Given the description of an element on the screen output the (x, y) to click on. 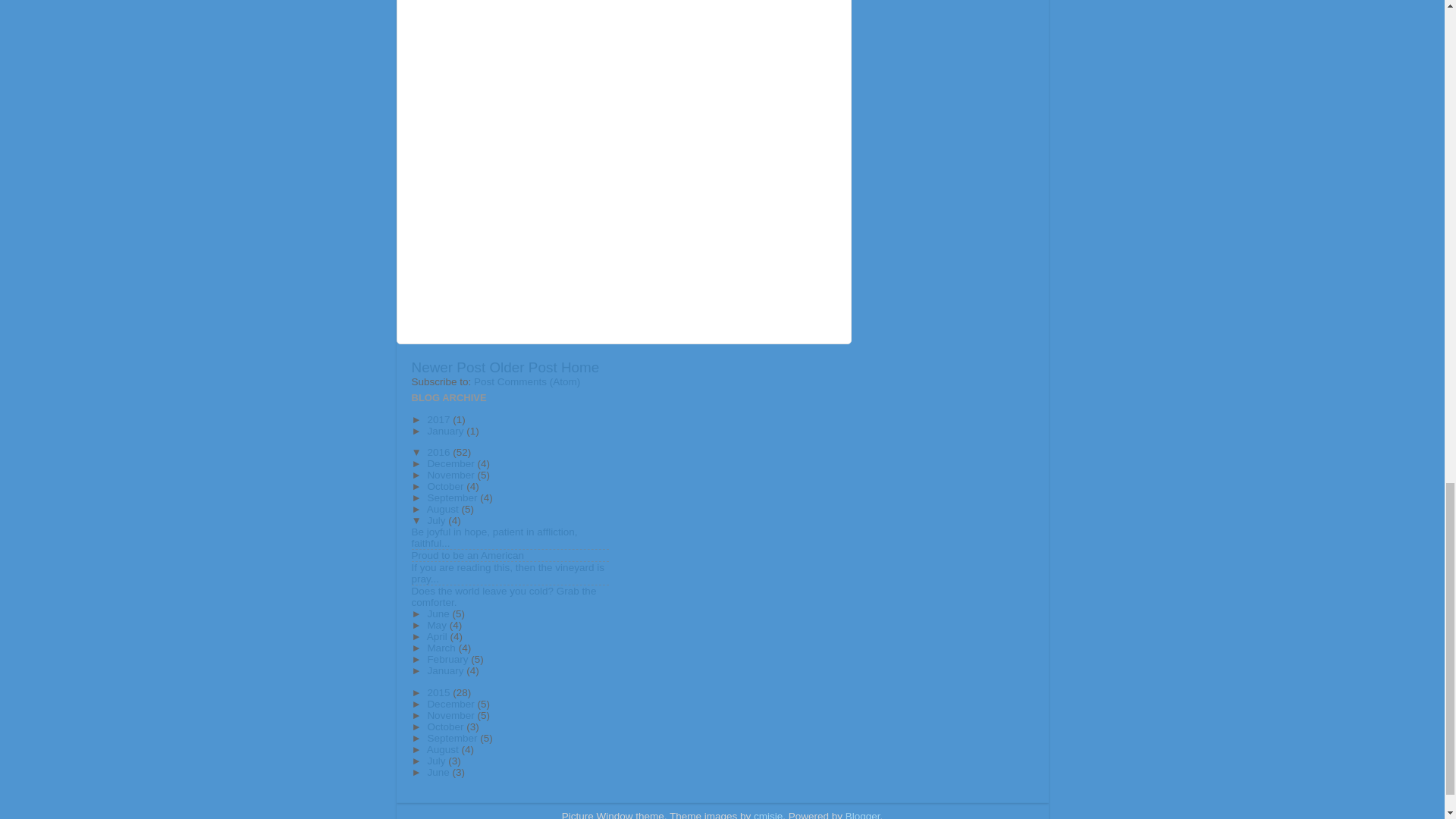
2017 (439, 419)
Newer Post (447, 367)
January (445, 430)
Home (579, 367)
July (437, 520)
Older Post (522, 367)
August (443, 509)
2016 (439, 451)
Be joyful in hope, patient in affliction, faithful... (493, 537)
Proud to be an American (467, 555)
November (451, 474)
Older Post (522, 367)
October (445, 486)
Does the world leave you cold? Grab the comforter. (502, 596)
December (451, 463)
